Given the description of an element on the screen output the (x, y) to click on. 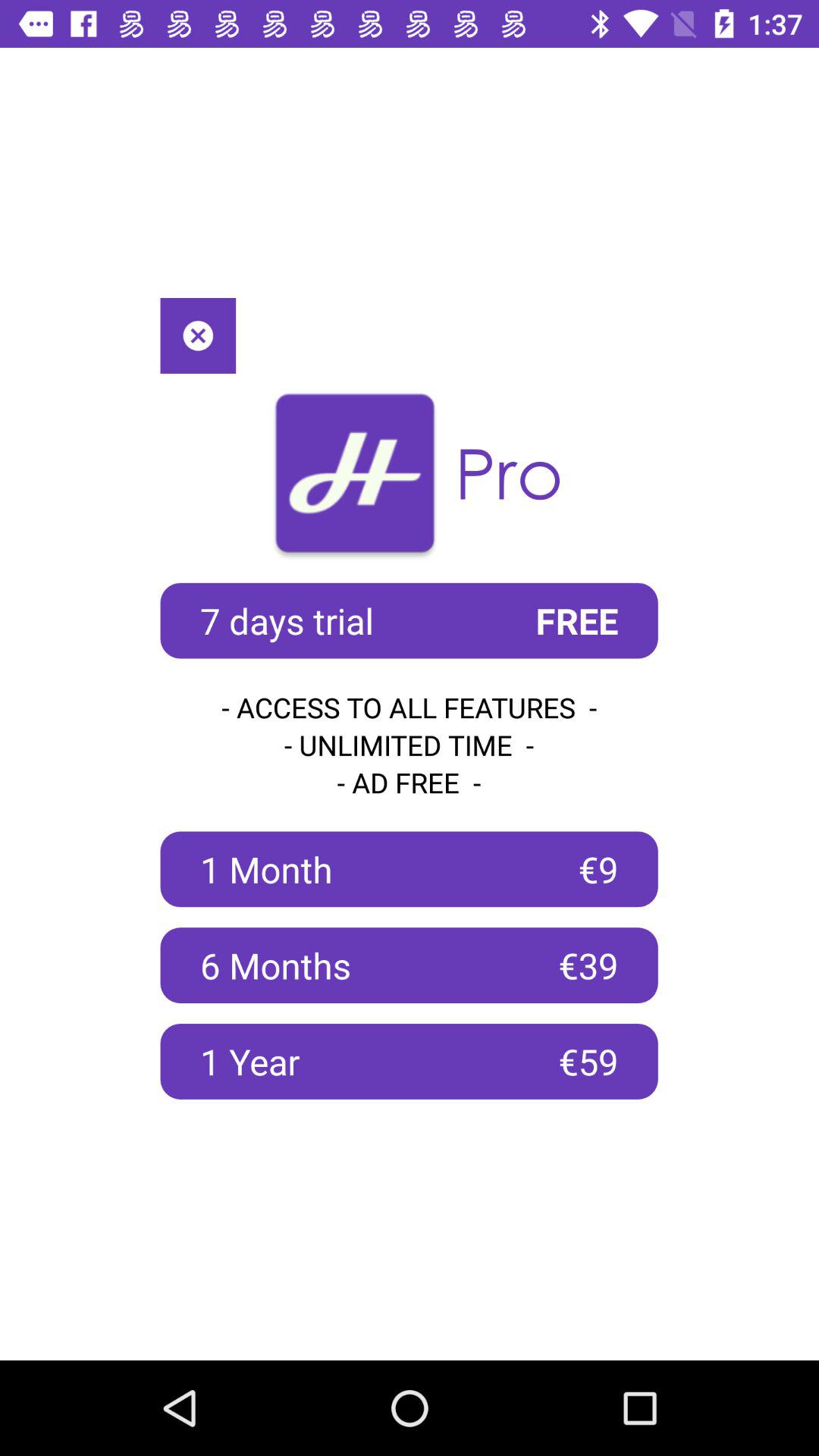
exit from the page (198, 335)
